Given the description of an element on the screen output the (x, y) to click on. 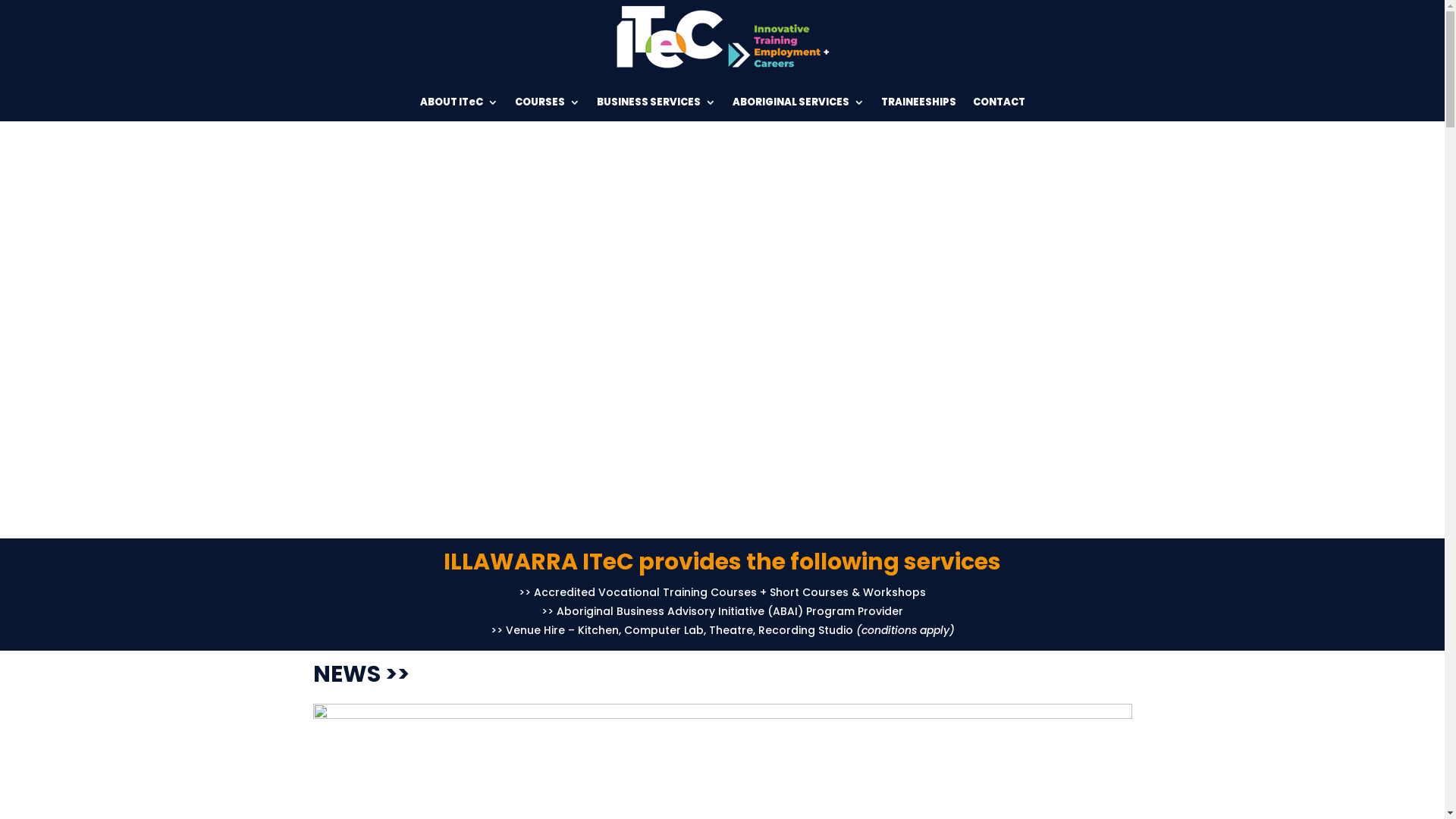
COURSES Element type: text (546, 102)
TRAINEESHIPS Element type: text (918, 102)
ABOUT ITeC Element type: text (459, 102)
BUSINESS SERVICES Element type: text (655, 102)
CONTACT Element type: text (998, 102)
ABORIGINAL SERVICES Element type: text (798, 102)
